Given the description of an element on the screen output the (x, y) to click on. 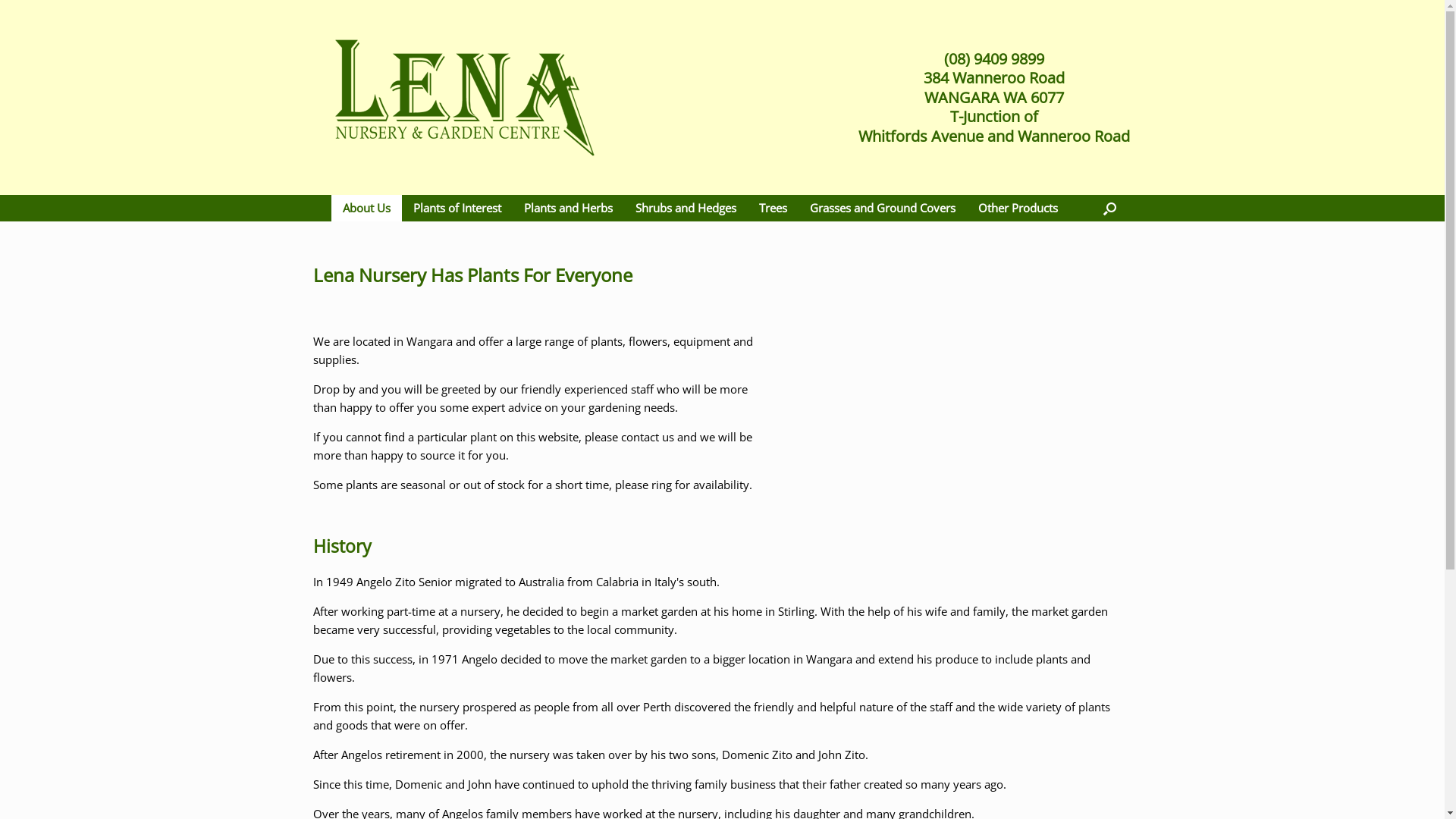
About Us Element type: text (365, 207)
Other Products Element type: text (1017, 207)
Plants and Herbs Element type: text (568, 207)
Lena Nursery Element type: hover (463, 97)
Grasses and Ground Covers Element type: text (881, 207)
Plants of Interest Element type: text (456, 207)
Shrubs and Hedges Element type: text (684, 207)
Trees Element type: text (772, 207)
